Given the description of an element on the screen output the (x, y) to click on. 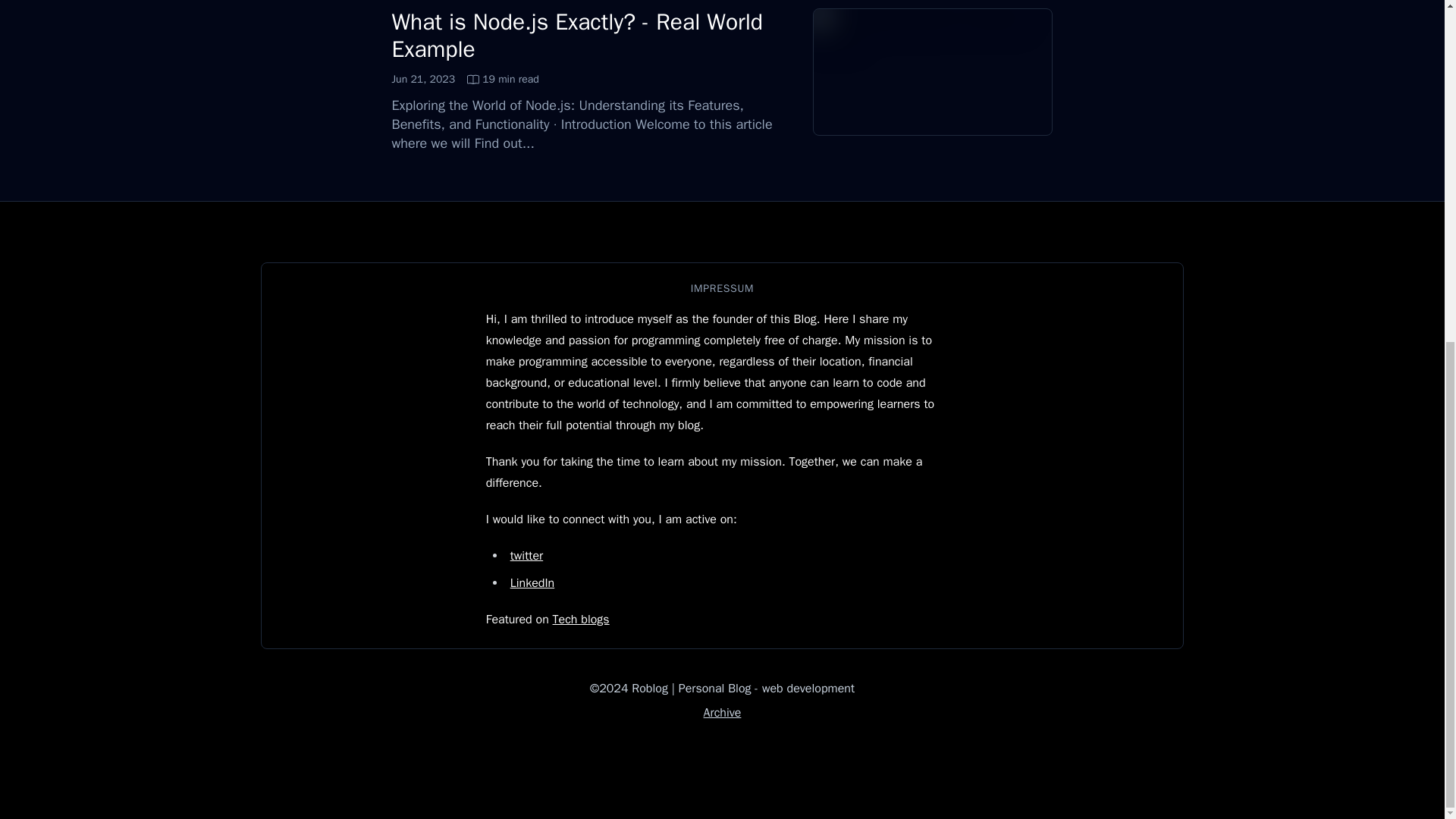
LinkedIn (464, 79)
What is Node.js Exactly? - Real World Example (532, 581)
twitter (576, 35)
